Given the description of an element on the screen output the (x, y) to click on. 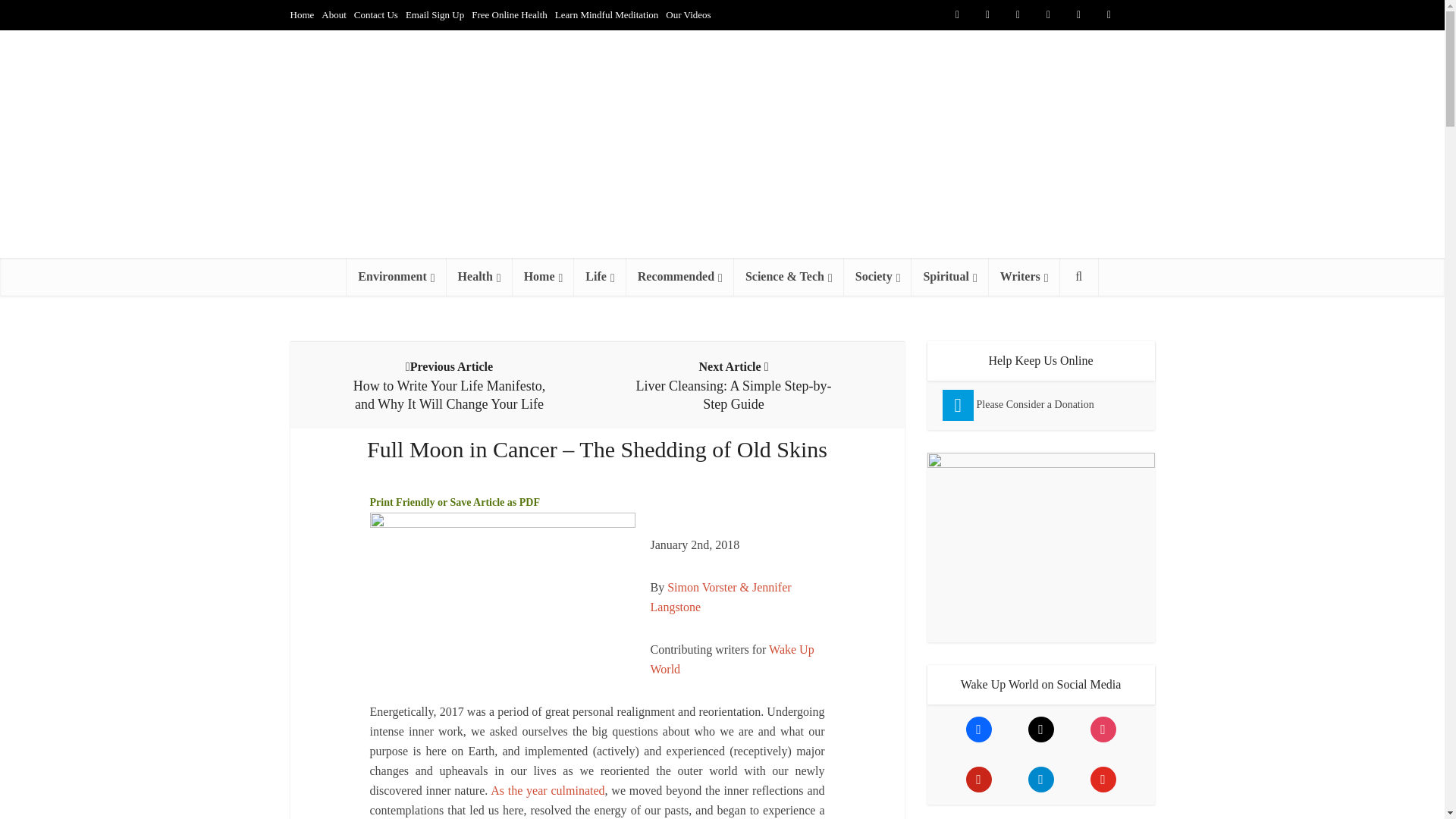
Our Videos (687, 14)
Learn Mindful Meditation (606, 14)
Telegram (1139, 15)
Email Sign Up (435, 14)
Home (301, 14)
Health (479, 276)
About (333, 14)
Articles recommended by WuW (679, 276)
Contact Us (375, 14)
